Given the description of an element on the screen output the (x, y) to click on. 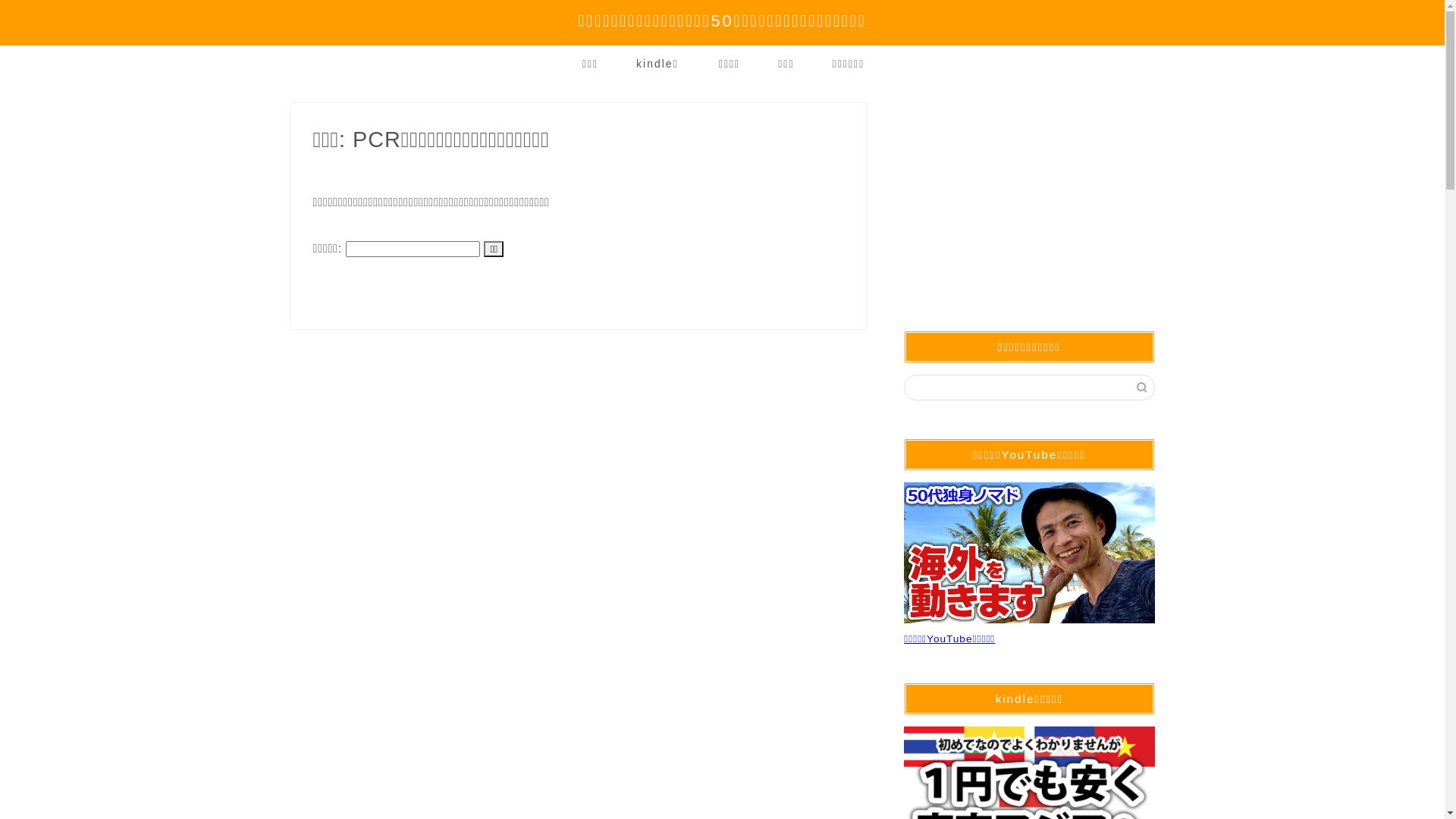
Advertisement Element type: hover (1028, 197)
